Given the description of an element on the screen output the (x, y) to click on. 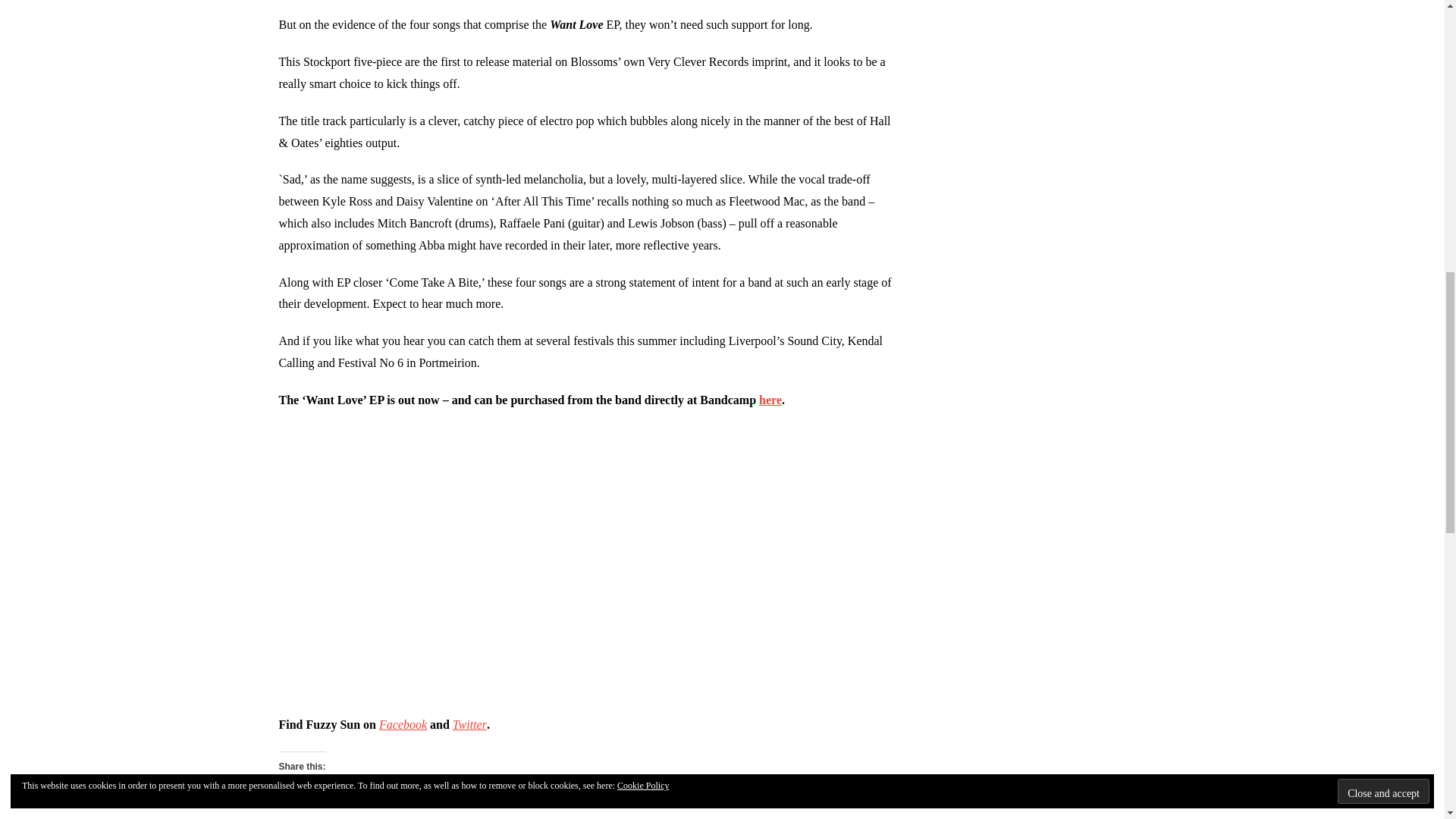
Email (308, 792)
WhatsApp (740, 792)
Print (369, 792)
Click to share on Pinterest (659, 792)
Click to email a link to a friend (308, 792)
Facebook (441, 792)
Pinterest (659, 792)
Facebook (402, 724)
Twitter (469, 724)
Click to share on Tumblr (585, 792)
